Given the description of an element on the screen output the (x, y) to click on. 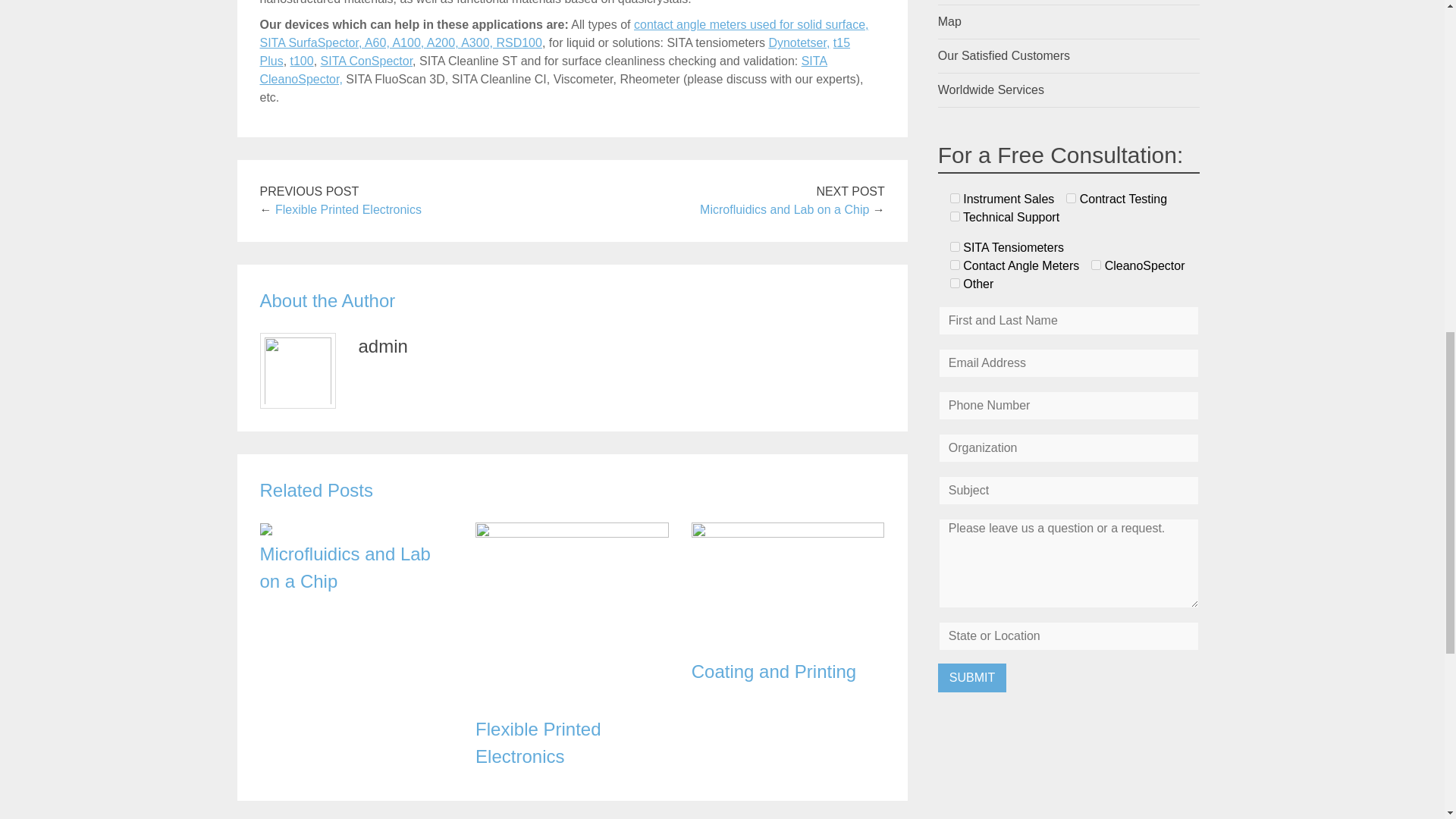
CleanoSpector (1095, 265)
SITA ConSpector (366, 60)
Flexible Printed Electronics (348, 209)
Contact Angle Meters (954, 265)
Flexible Printed Electronics (572, 533)
Technical Support (954, 216)
SITA Tensiometers (954, 246)
SUBMIT (971, 677)
t100 (301, 60)
